Given the description of an element on the screen output the (x, y) to click on. 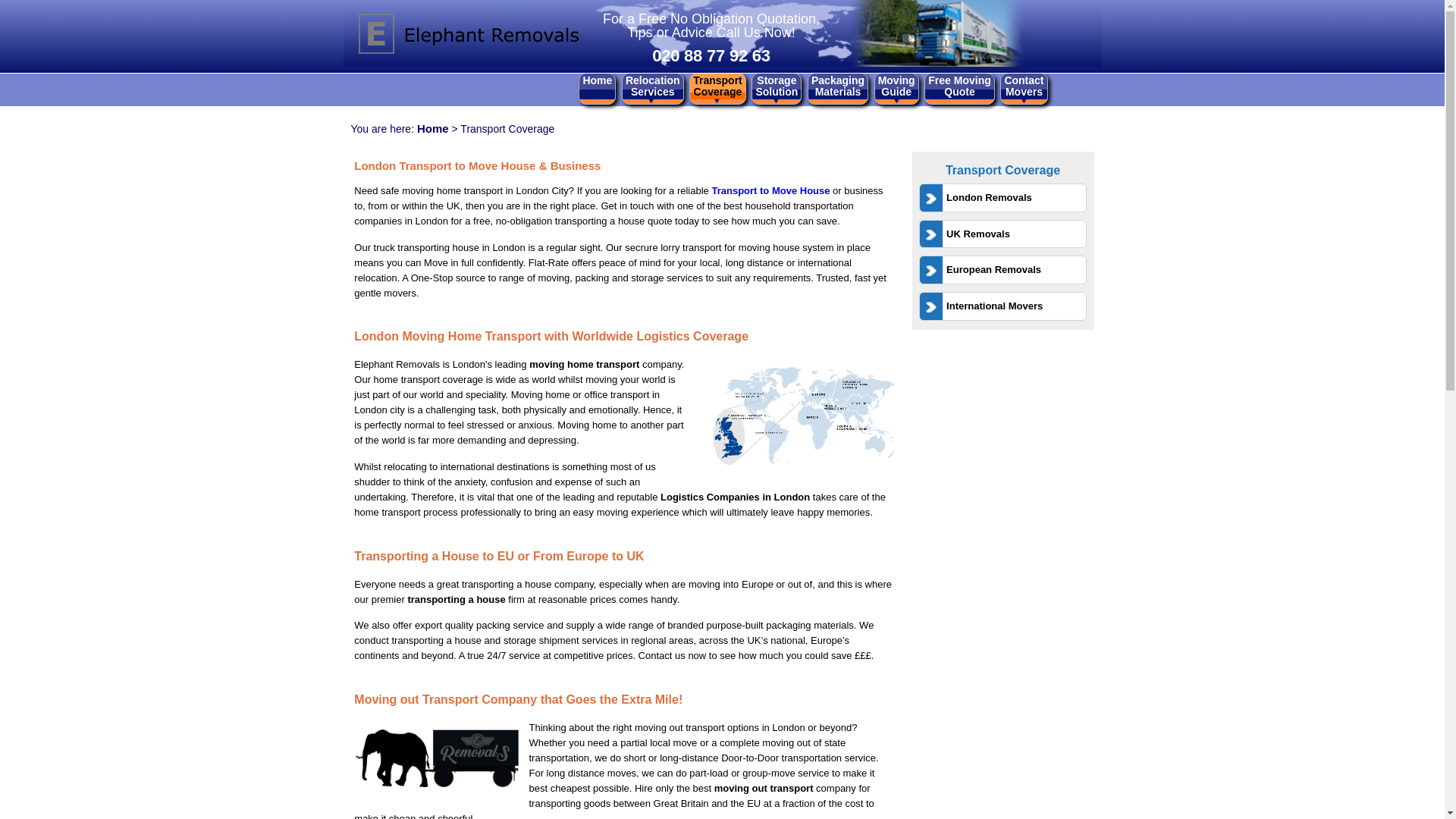
London Removals (1012, 197)
UK Removals (837, 86)
Home (1012, 234)
Moving Companies (432, 128)
Moving out Transport (776, 86)
International Movers (460, 33)
Moving Home Transport (437, 758)
European Removals (1012, 306)
Home (798, 415)
Transport to Move House (1012, 269)
